Given the description of an element on the screen output the (x, y) to click on. 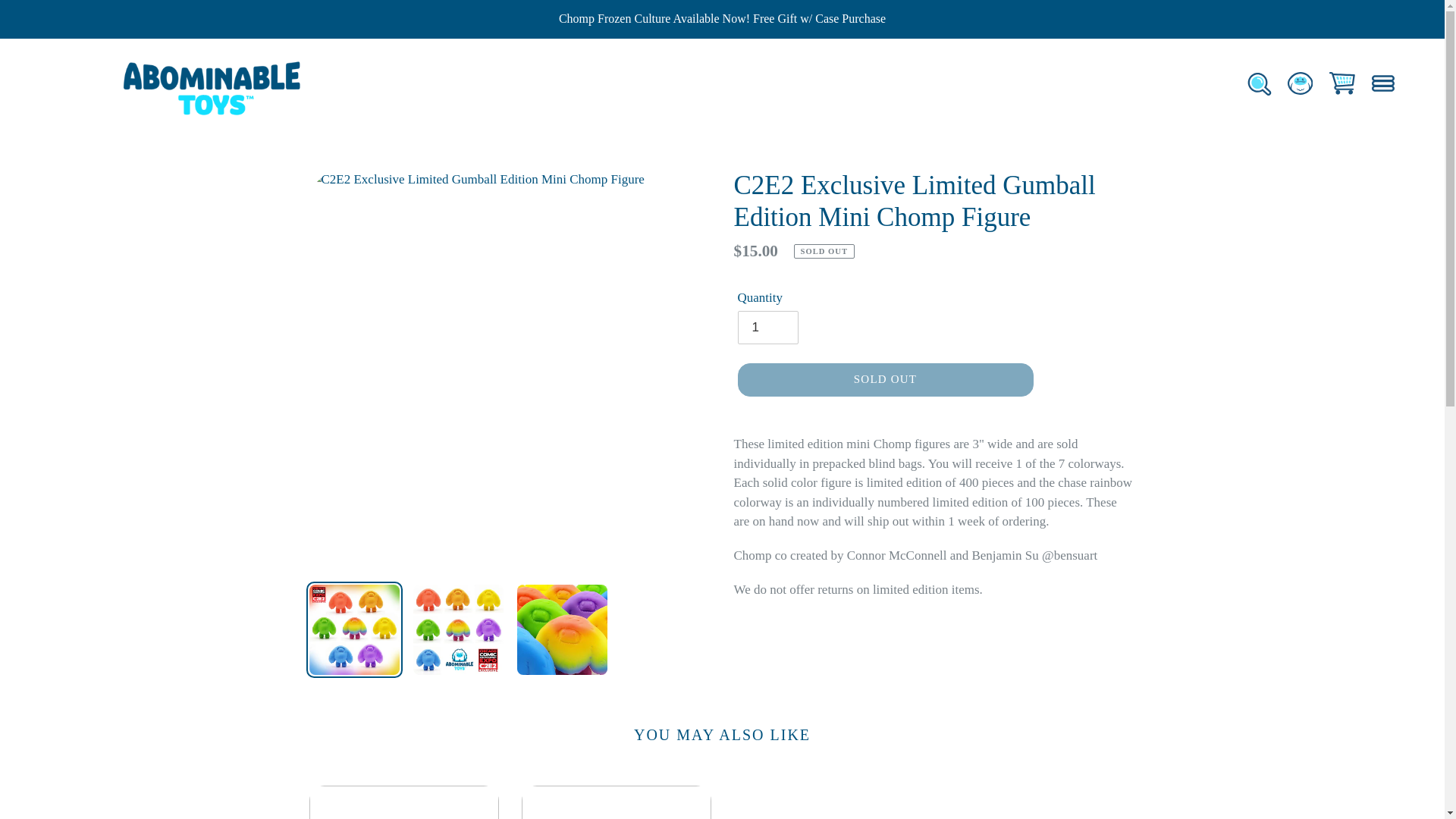
Search (1258, 83)
1 (766, 327)
Log in (1299, 83)
Cart (1341, 83)
